Given the description of an element on the screen output the (x, y) to click on. 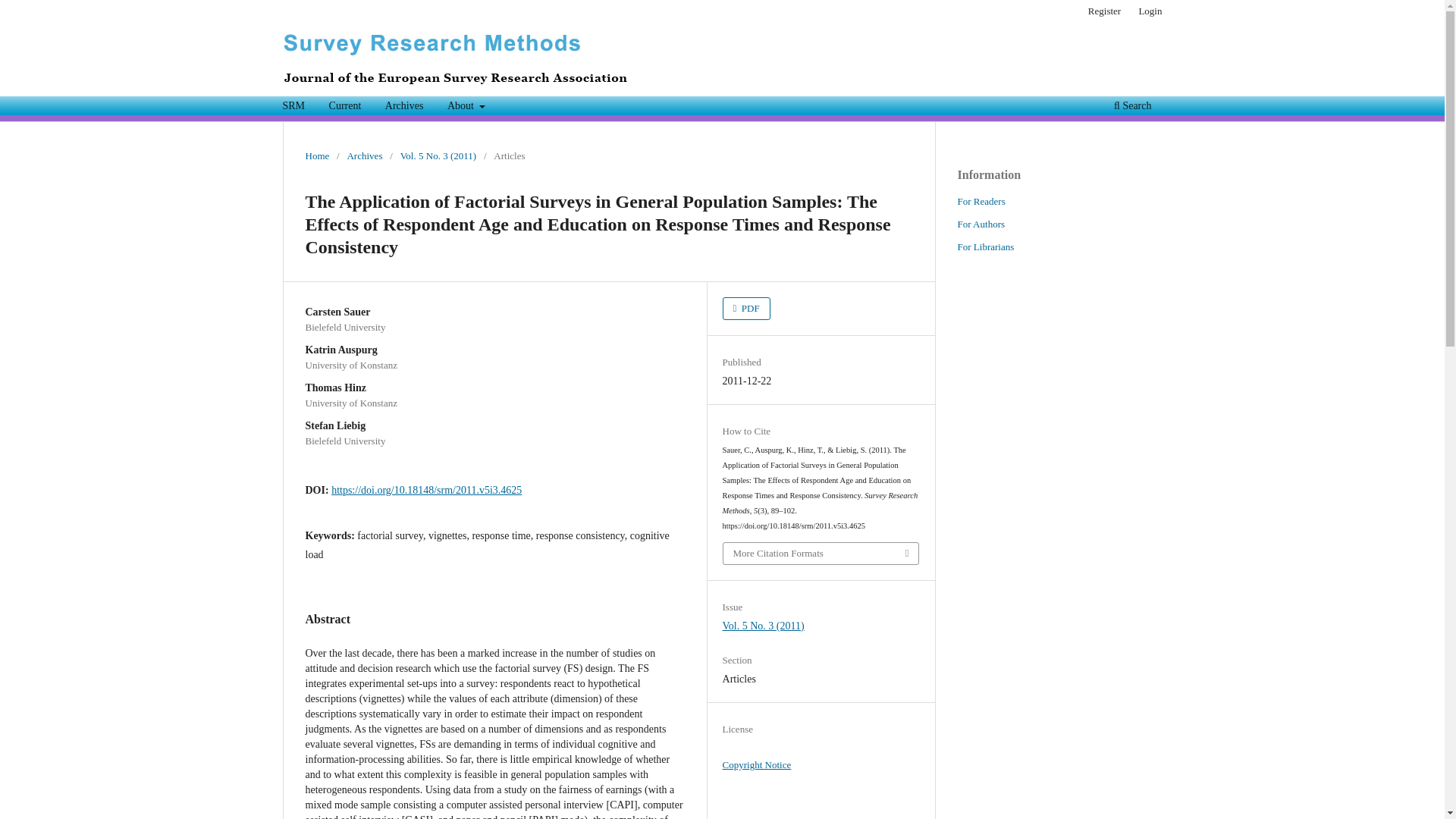
PDF (746, 308)
SRM (294, 108)
About (466, 108)
More Citation Formats (820, 553)
Current (344, 108)
Register (1104, 11)
Home (316, 155)
Archives (404, 108)
Archives (363, 155)
Search (1132, 108)
Login (1150, 11)
